Given the description of an element on the screen output the (x, y) to click on. 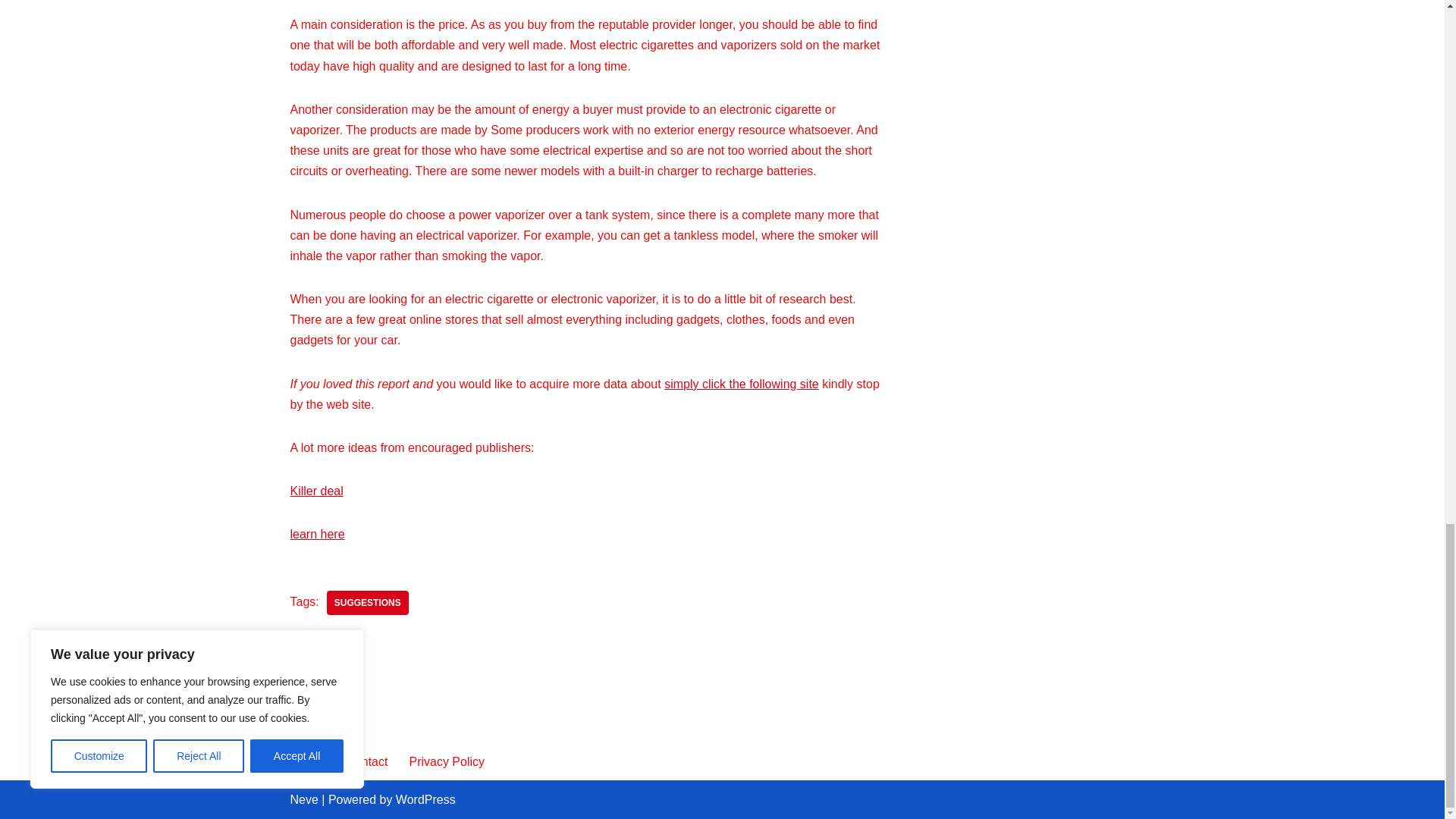
learn here (316, 533)
SUGGESTIONS (367, 602)
Killer deal (315, 490)
Suggestions (367, 602)
simply click the following site (740, 383)
